Given the description of an element on the screen output the (x, y) to click on. 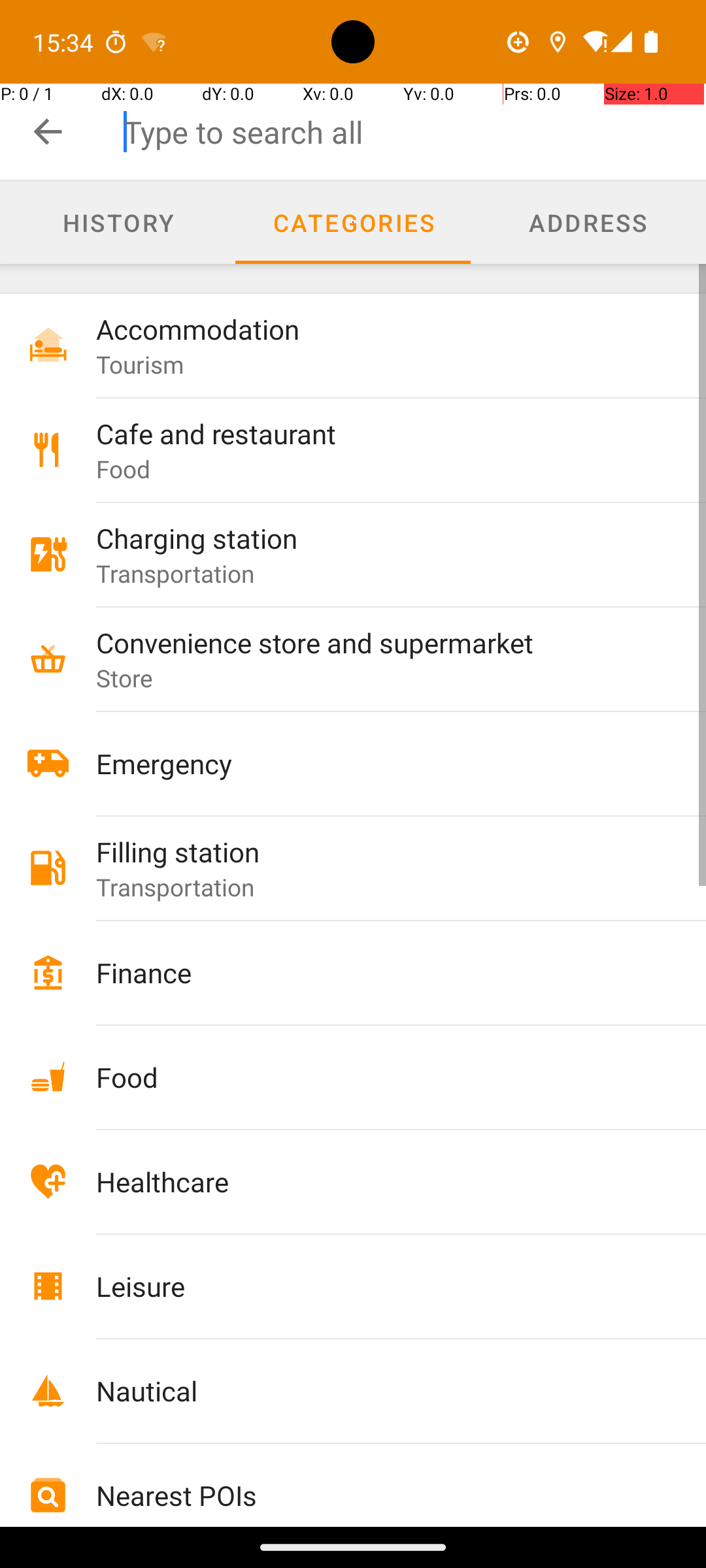
Tourism Element type: android.widget.TextView (140, 363)
Cafe and restaurant Element type: android.widget.TextView (373, 433)
Charging station Element type: android.widget.TextView (373, 537)
Store Element type: android.widget.TextView (124, 677)
Emergency Element type: android.widget.TextView (373, 763)
Filling station Element type: android.widget.TextView (373, 851)
Healthcare Element type: android.widget.TextView (373, 1181)
Leisure Element type: android.widget.TextView (373, 1285)
Nautical Element type: android.widget.TextView (373, 1390)
Nearest POIs Element type: android.widget.TextView (373, 1494)
